Given the description of an element on the screen output the (x, y) to click on. 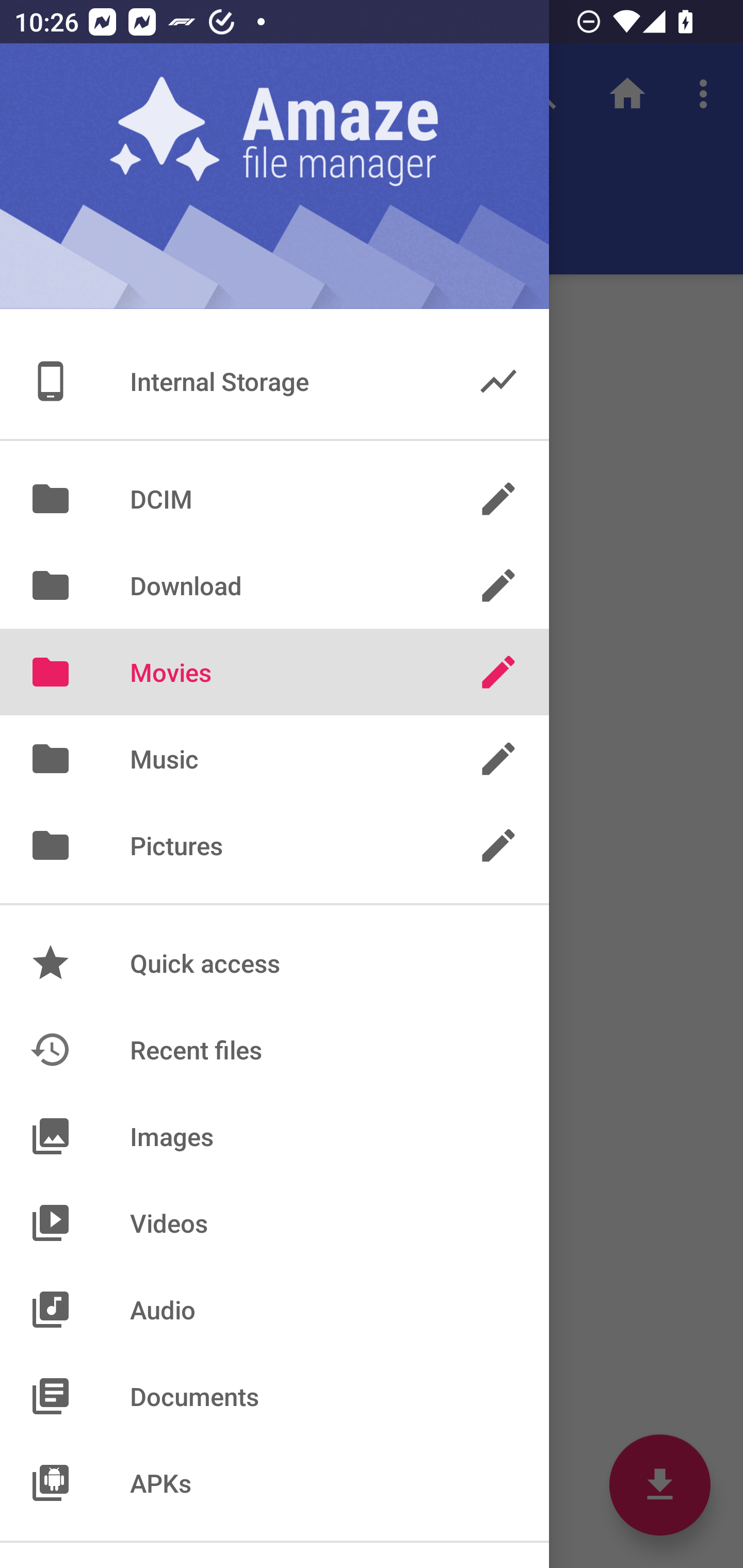
Internal Storage (274, 380)
DCIM (274, 498)
Download (274, 585)
Movies (274, 671)
Music (274, 758)
Pictures (274, 845)
Quick access (274, 963)
Recent files (274, 1049)
Images (274, 1135)
Videos (274, 1222)
Audio (274, 1309)
Documents (274, 1396)
APKs (274, 1482)
